Given the description of an element on the screen output the (x, y) to click on. 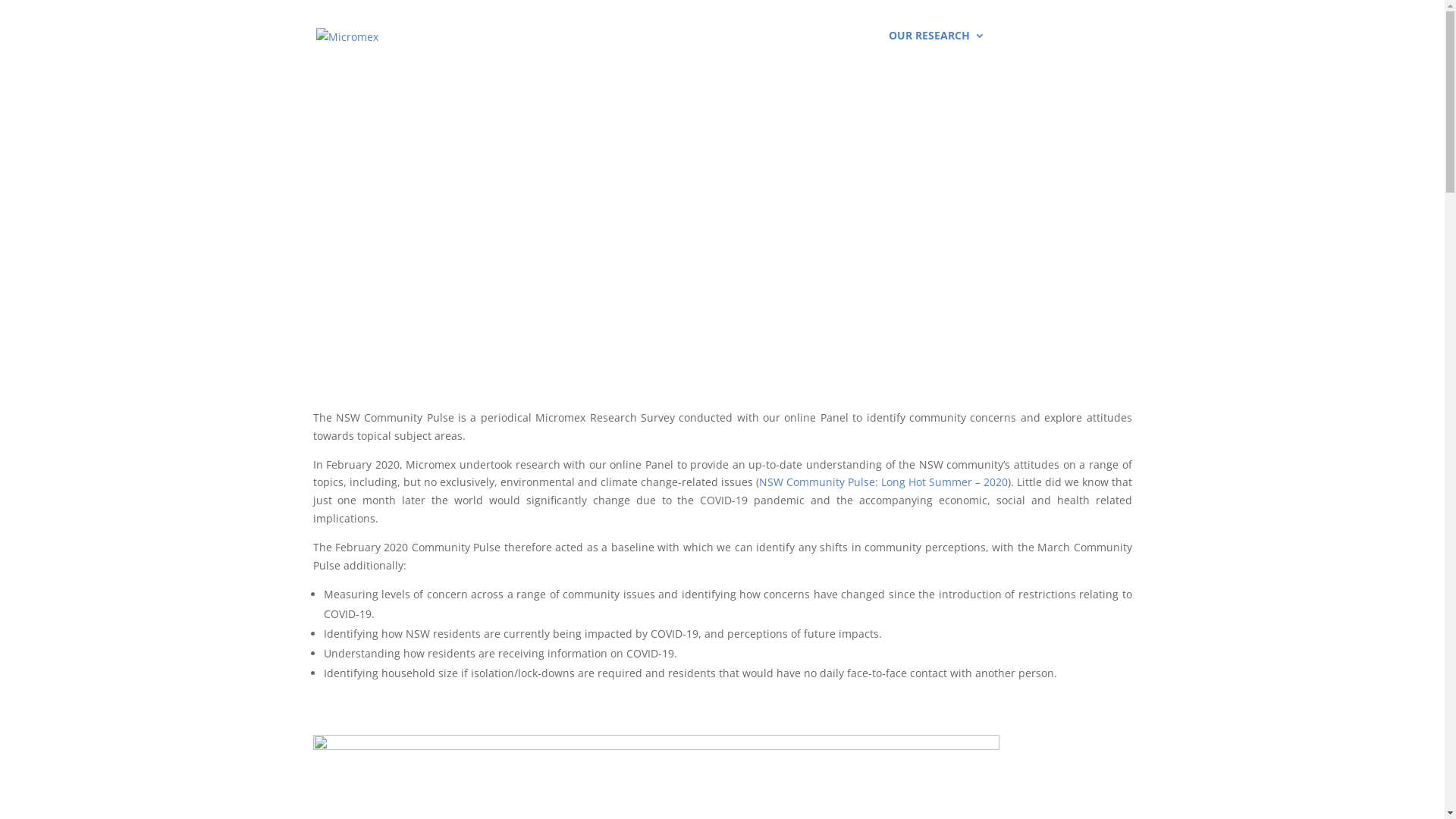
OUR RESEARCH Element type: text (936, 50)
JOBS Element type: text (1024, 50)
WHAT WE DO Element type: text (736, 50)
ABOUT US Element type: text (638, 50)
HOME Element type: text (566, 50)
OUR CLIENTS Element type: text (834, 50)
CONTACT US Element type: text (1098, 50)
